Given the description of an element on the screen output the (x, y) to click on. 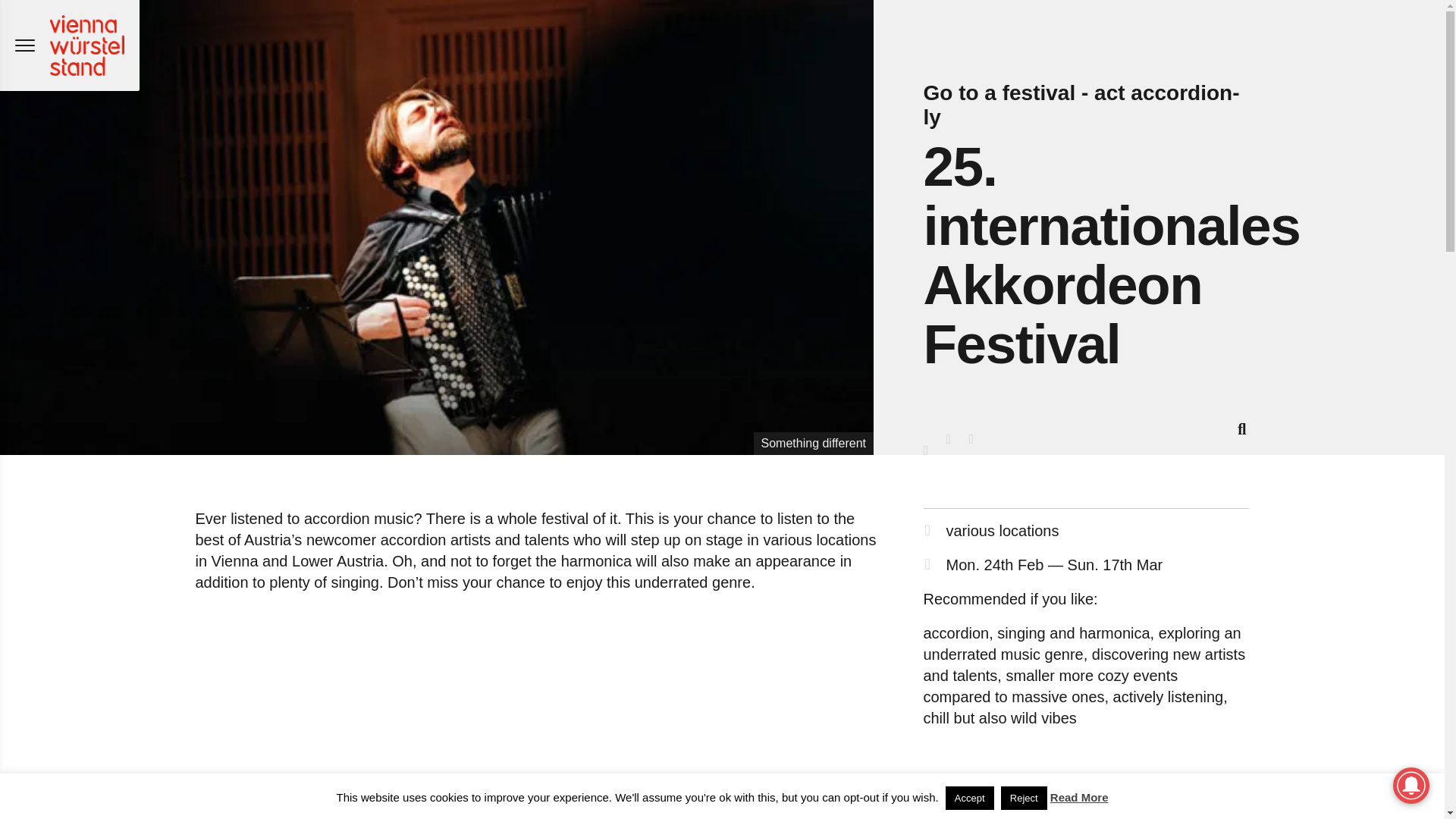
25. internationales Akkordeon Festival (1111, 254)
Something different (813, 442)
